Given the description of an element on the screen output the (x, y) to click on. 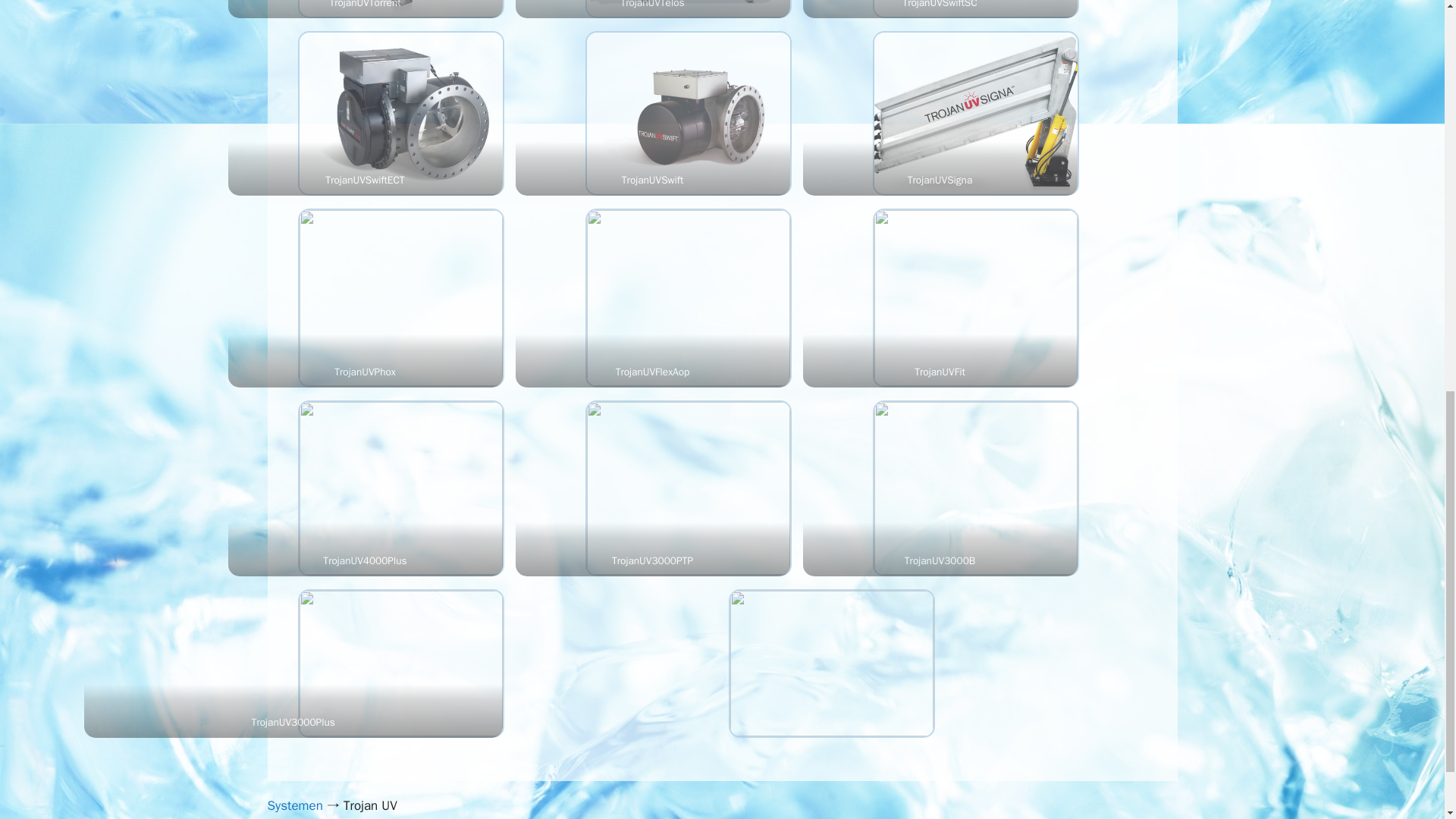
TrojanUVSwiftSC (975, 8)
TrojanUVFlex (688, 297)
TrojanUVSigna (975, 113)
TrojanUVPhox (400, 297)
TrojanUV3000PTP (688, 488)
Systemen (293, 805)
TrojanUVSwiftECT (400, 113)
TrojanUVSwift (688, 113)
TrojanUV3000Plus (400, 663)
TrojanUVFit (975, 297)
TrojanUVTelos (688, 8)
TrojanUVTorrent (400, 8)
TrojanUV4000Plus (400, 488)
TrojanUV3000B (975, 488)
